Given the description of an element on the screen output the (x, y) to click on. 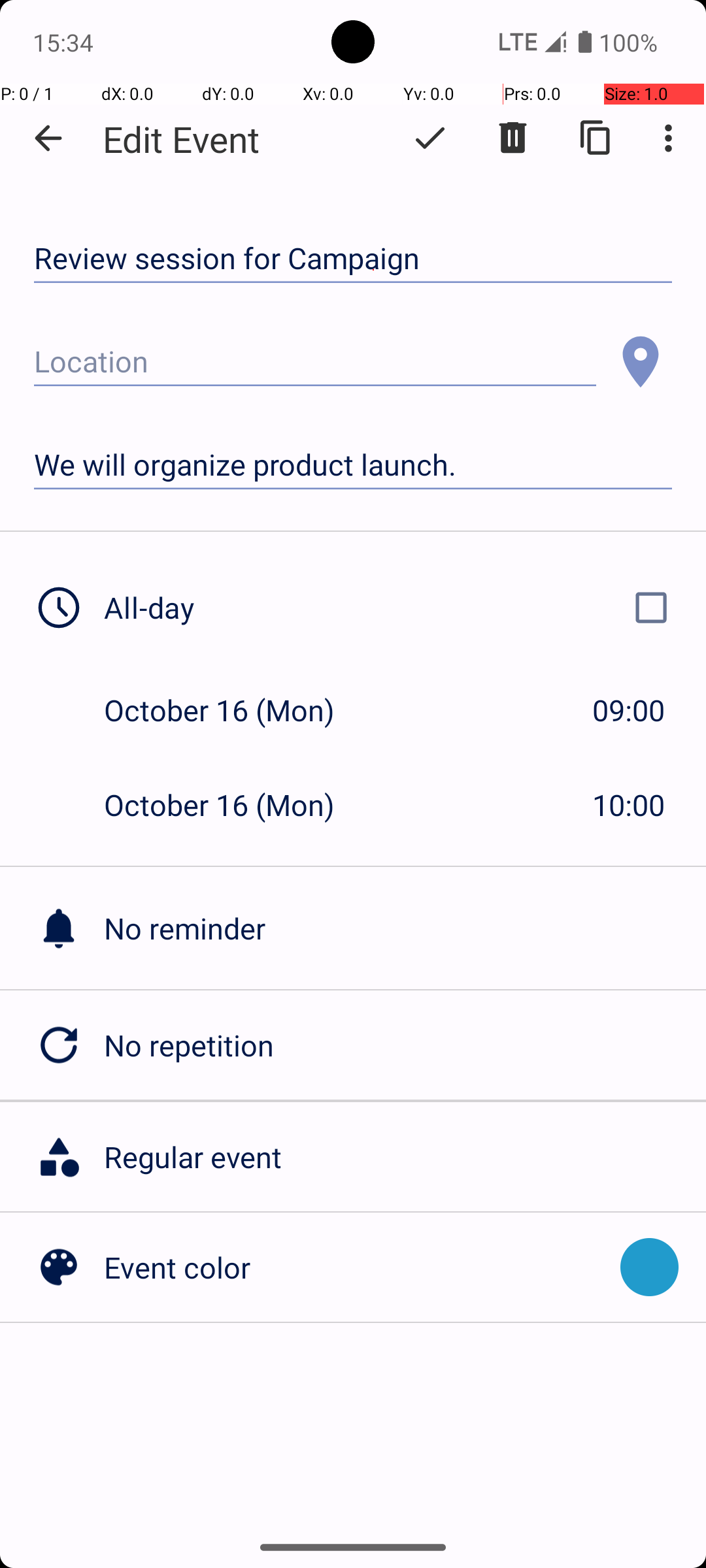
We will organize product launch. Element type: android.widget.EditText (352, 465)
